Given the description of an element on the screen output the (x, y) to click on. 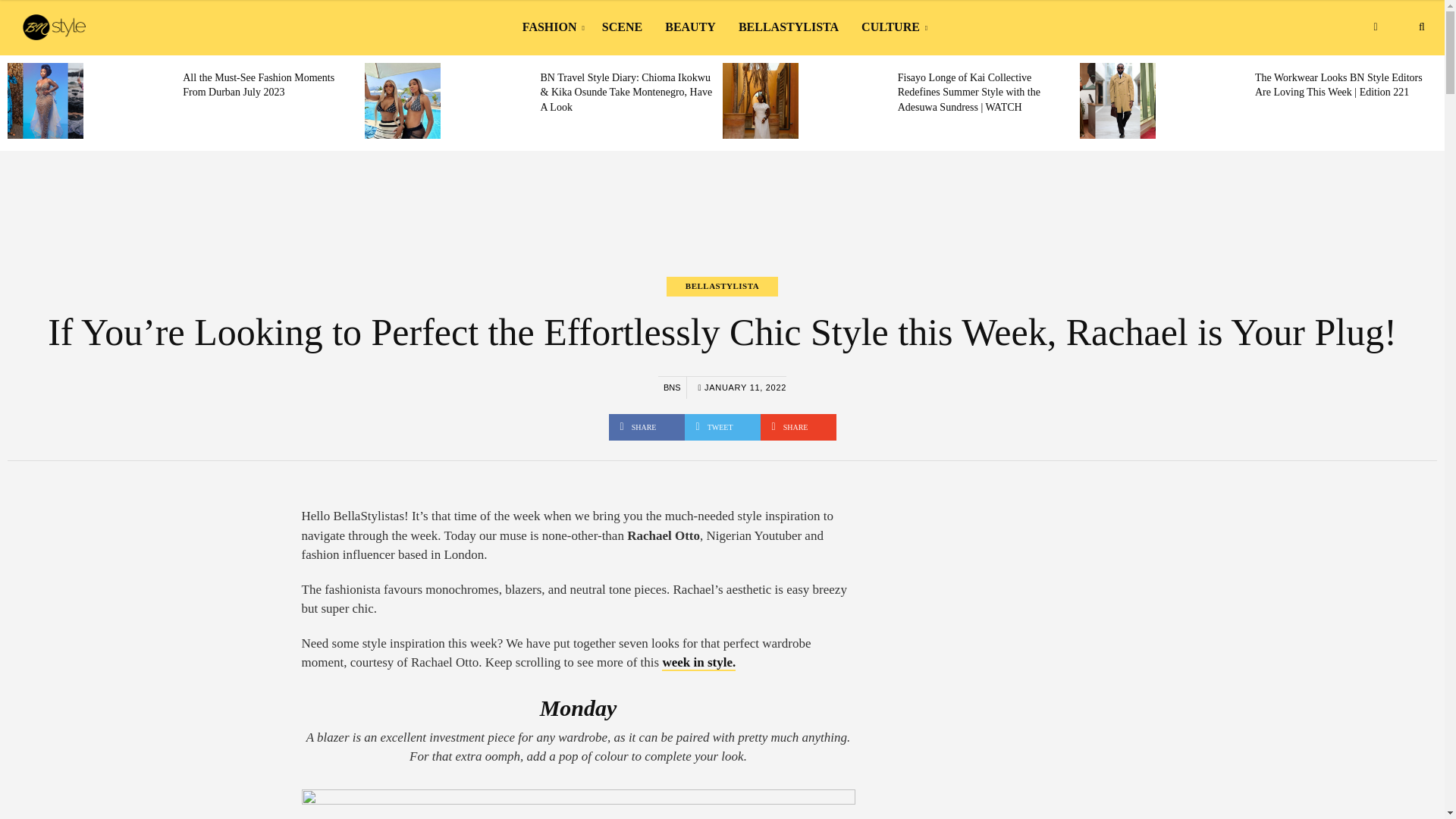
CULTURE (891, 27)
All the Must-See Fashion Moments From Durban July 2023 (258, 85)
Search (1421, 27)
SCENE (622, 27)
BELLASTYLISTA (788, 27)
BEAUTY (689, 27)
FASHION (551, 27)
